Given the description of an element on the screen output the (x, y) to click on. 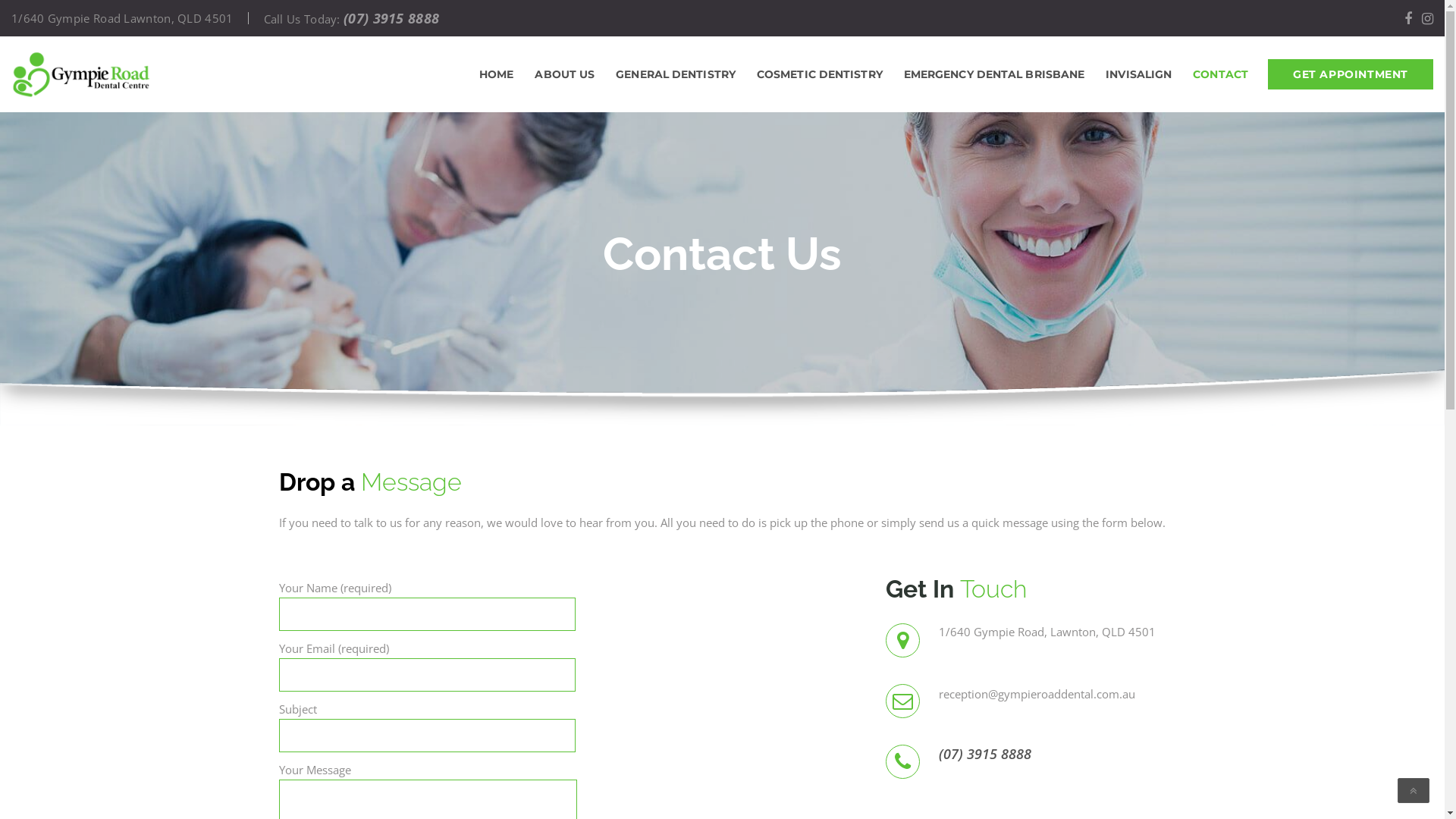
reception@gympieroaddental.com.au Element type: text (1036, 693)
GENERAL DENTISTRY Element type: text (675, 74)
(07) 3915 8888 Element type: text (1052, 753)
HOME Element type: text (496, 74)
(07) 3915 8888 Element type: text (391, 18)
GET APPOINTMENT Element type: text (1350, 74)
EMERGENCY DENTAL BRISBANE Element type: text (994, 74)
COSMETIC DENTISTRY Element type: text (819, 74)
ABOUT US Element type: text (564, 74)
INVISALIGN Element type: text (1138, 74)
CONTACT Element type: text (1220, 74)
